Given the description of an element on the screen output the (x, y) to click on. 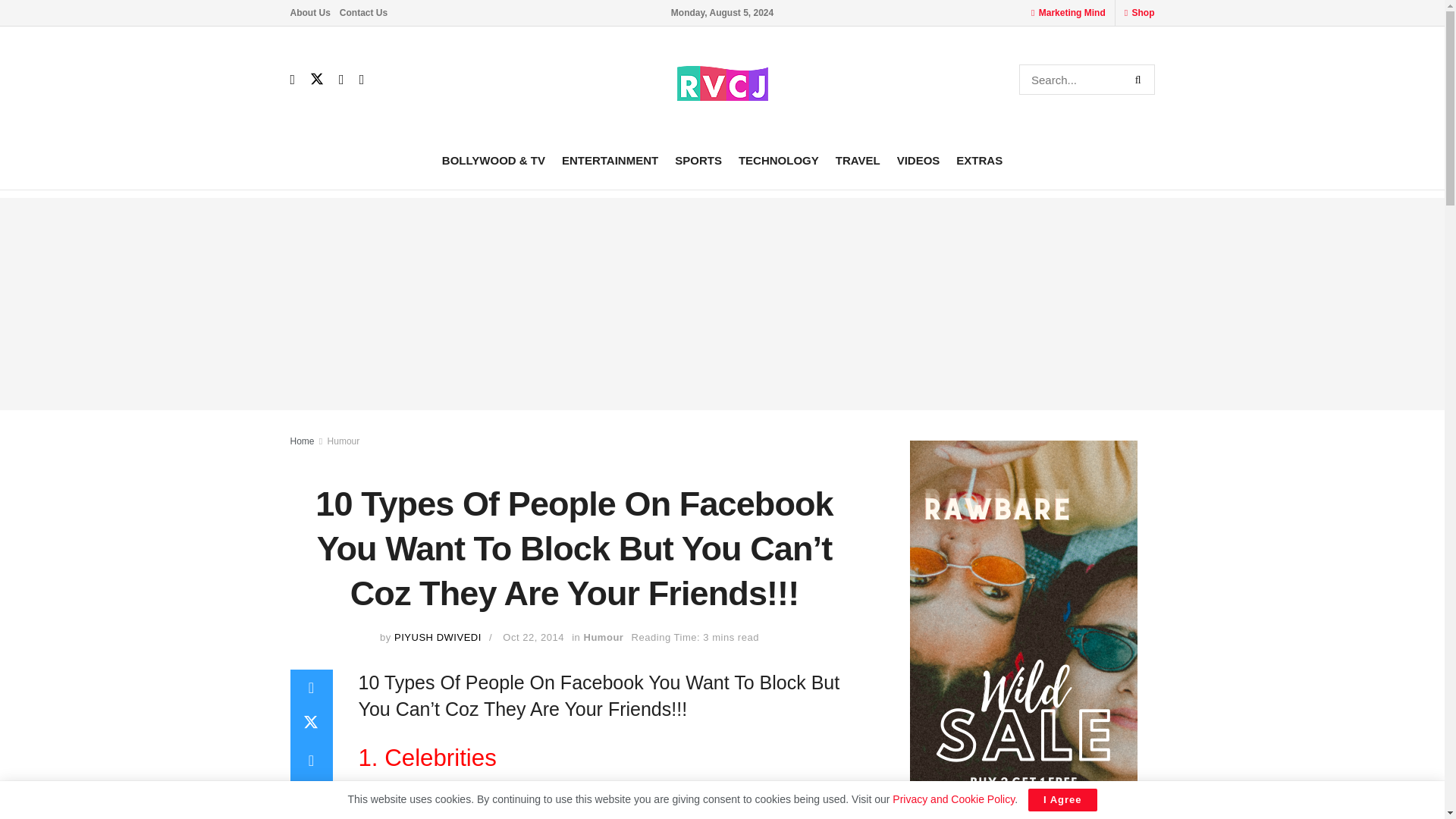
EXTRAS (979, 160)
Contact Us (363, 12)
Humour (343, 440)
PIYUSH DWIVEDI (437, 636)
VIDEOS (918, 160)
Home (301, 440)
Shop (1142, 12)
About Us (309, 12)
TRAVEL (857, 160)
TECHNOLOGY (778, 160)
Marketing Mind (1072, 12)
SPORTS (698, 160)
ENTERTAINMENT (610, 160)
